Given the description of an element on the screen output the (x, y) to click on. 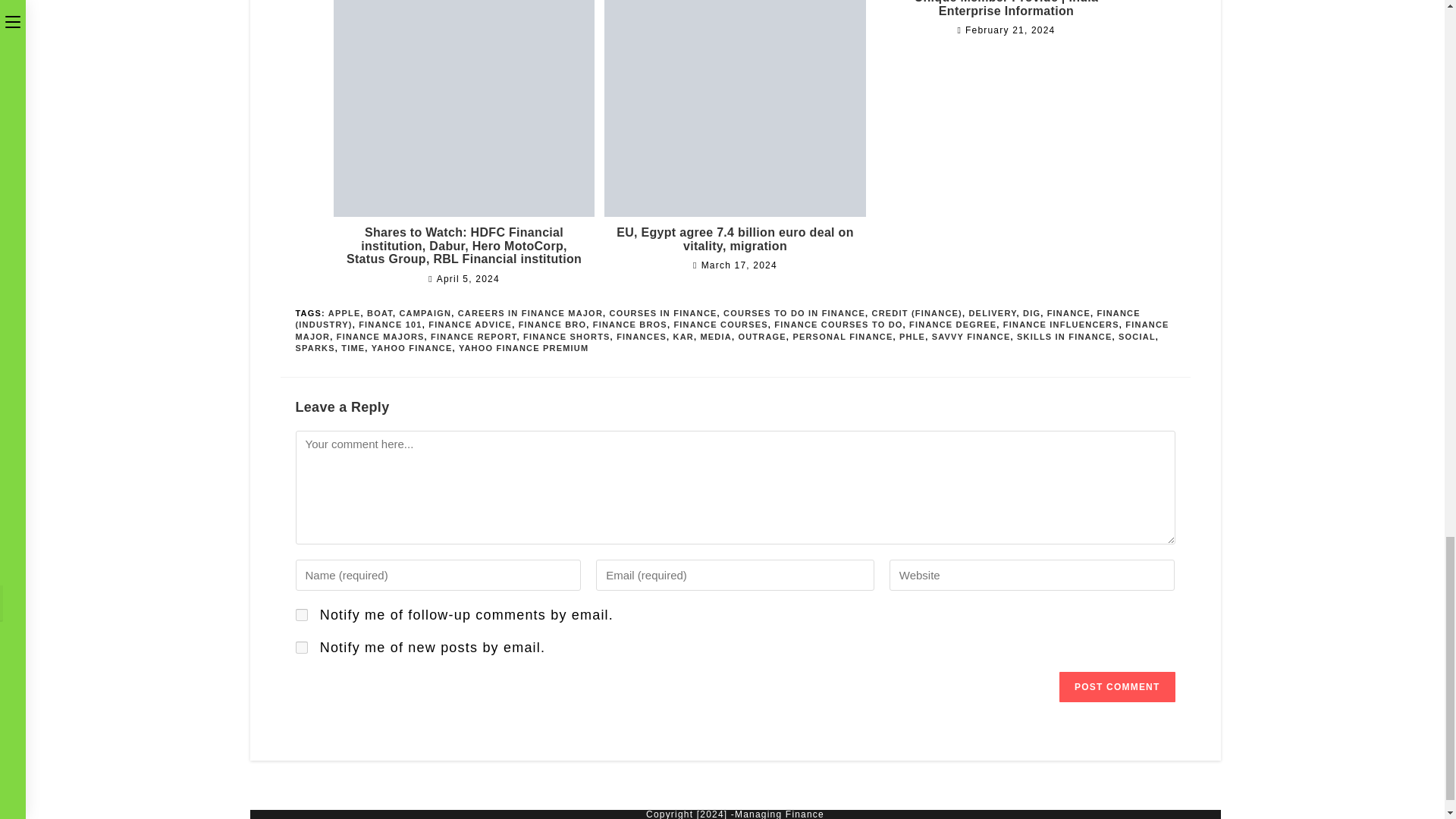
subscribe (301, 647)
Post Comment (1116, 686)
subscribe (301, 614)
